Given the description of an element on the screen output the (x, y) to click on. 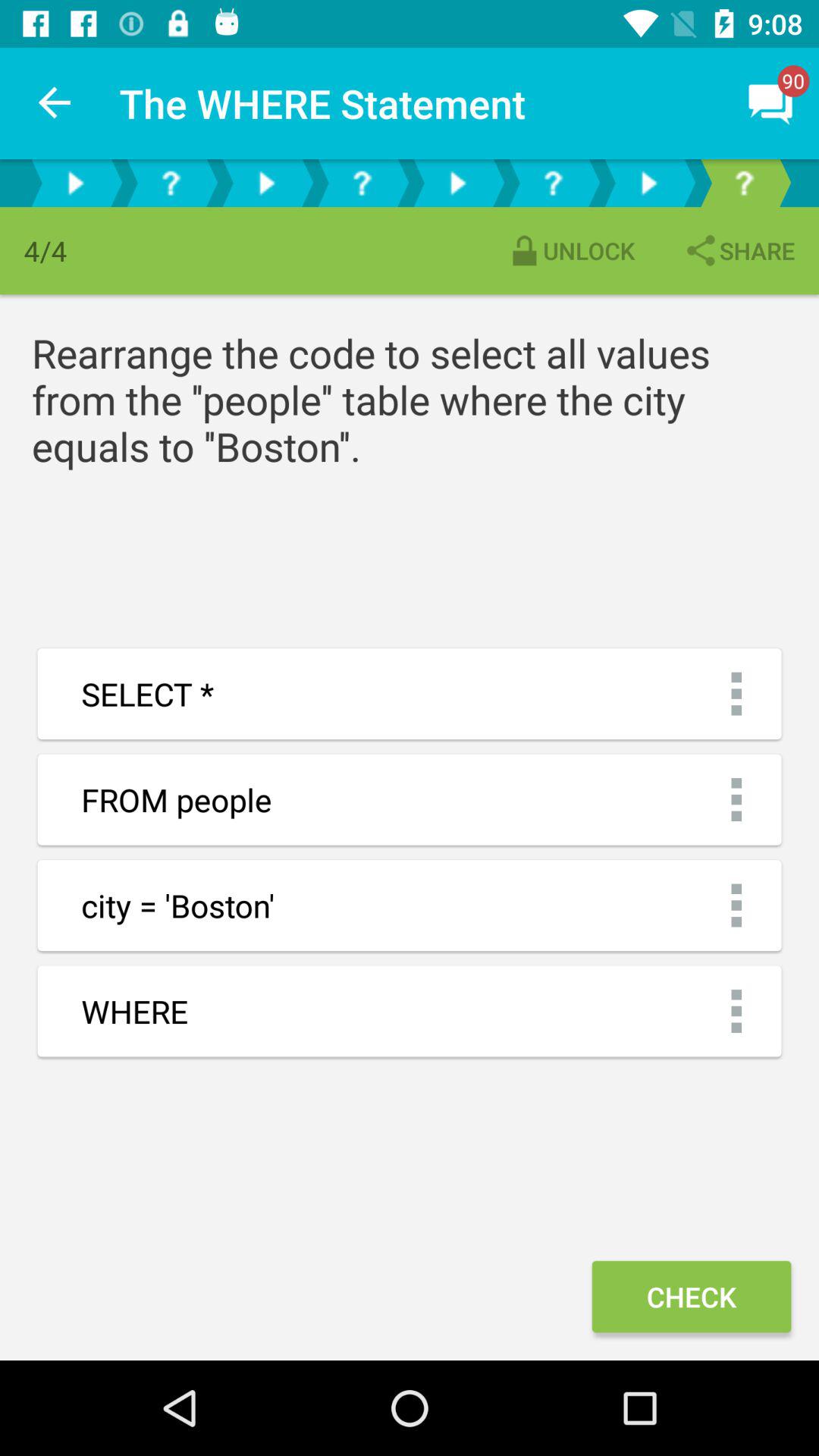
choose item next to the unlock icon (738, 250)
